Given the description of an element on the screen output the (x, y) to click on. 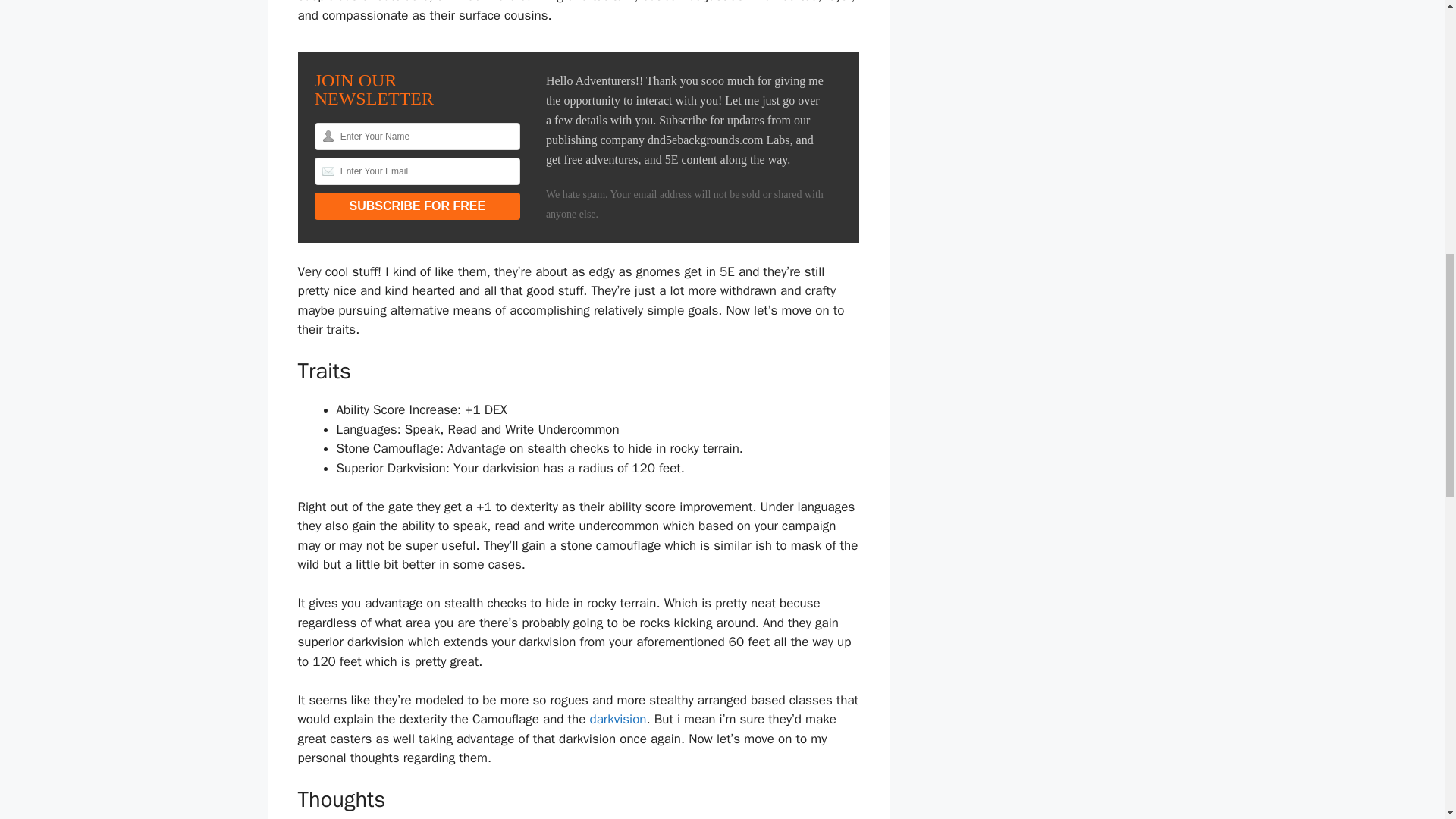
SUBSCRIBE FOR FREE (416, 206)
darkvision (617, 719)
SUBSCRIBE FOR FREE (416, 206)
